Given the description of an element on the screen output the (x, y) to click on. 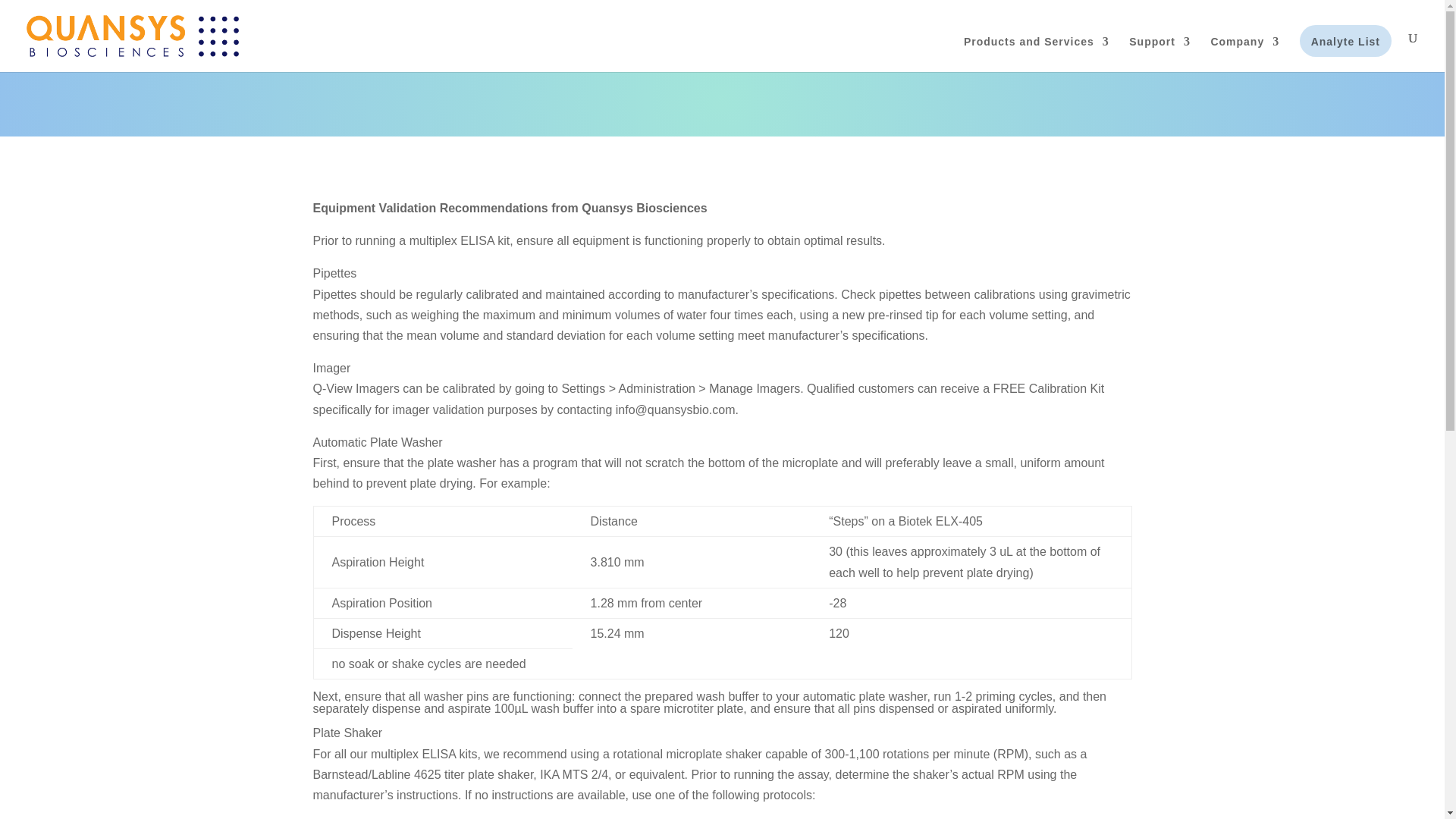
Products and Services (1036, 54)
Support (1160, 54)
Company (1244, 54)
Analyte List (1345, 54)
